Given the description of an element on the screen output the (x, y) to click on. 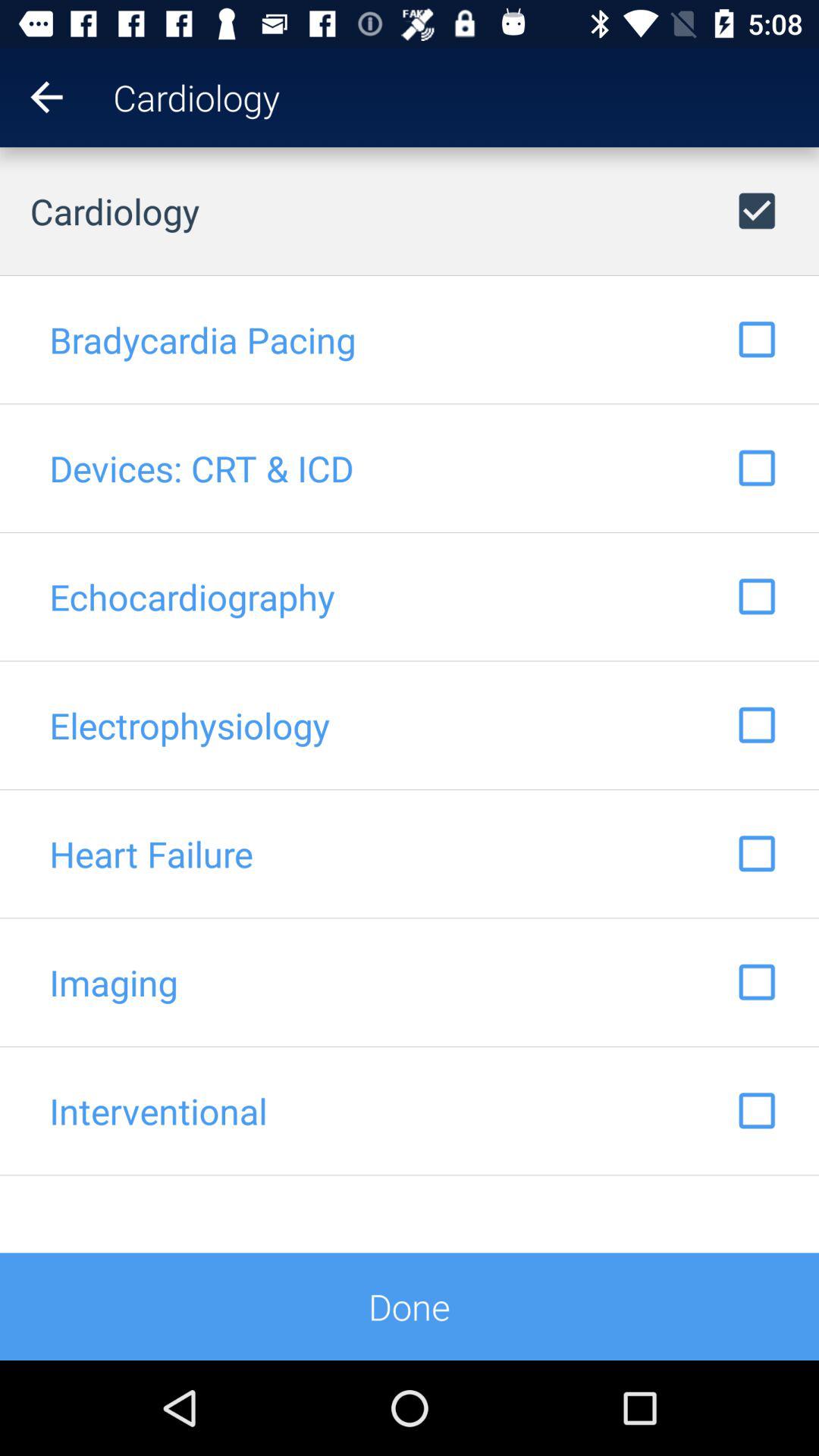
select item next to cardiology (798, 97)
